Given the description of an element on the screen output the (x, y) to click on. 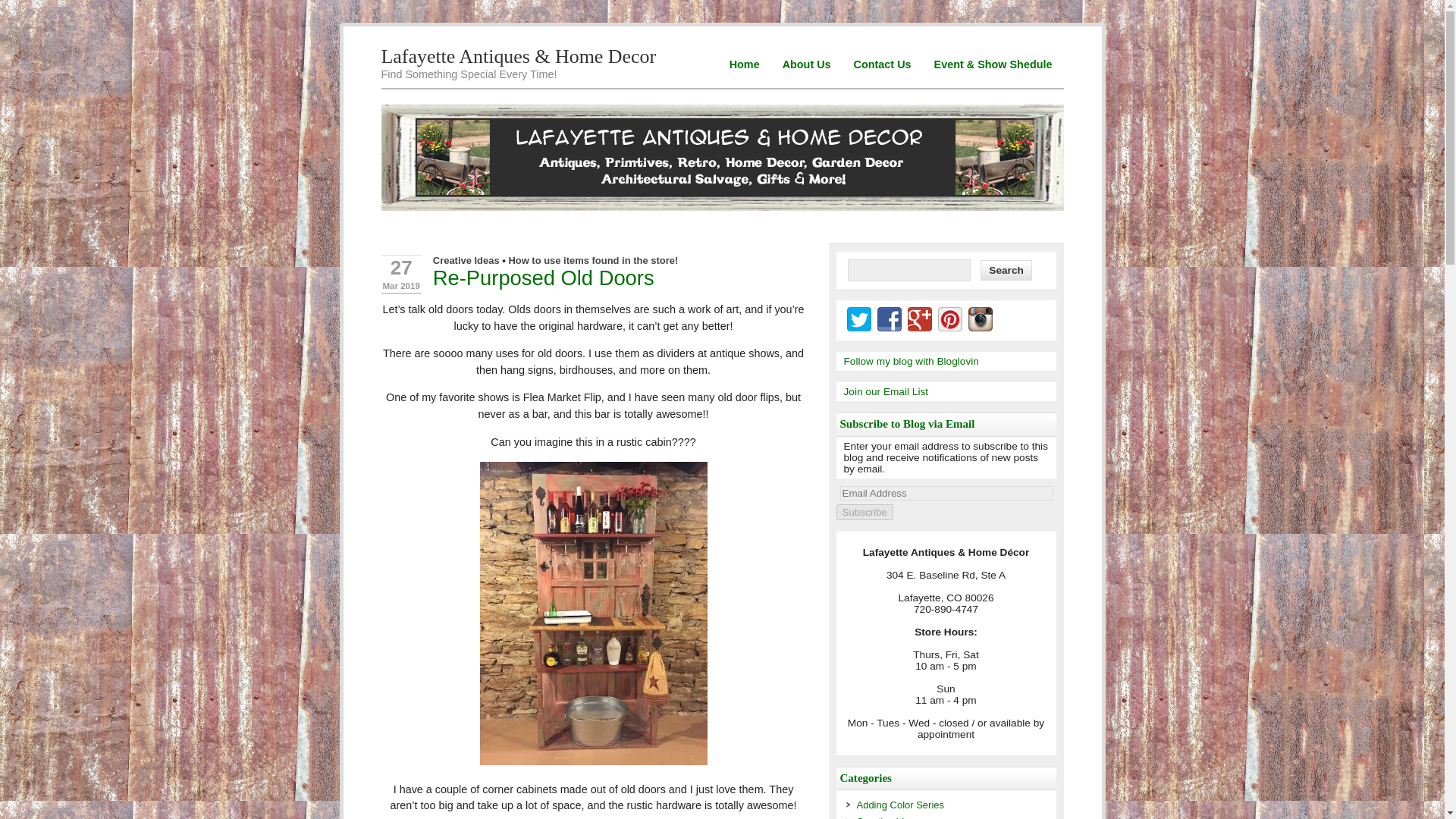
About Us (807, 64)
Search (1005, 270)
Search (1005, 270)
Creative Ideas (465, 260)
How to use items found in the store! (593, 260)
27 (401, 267)
Home (744, 64)
Contact Us (883, 64)
